Given the description of an element on the screen output the (x, y) to click on. 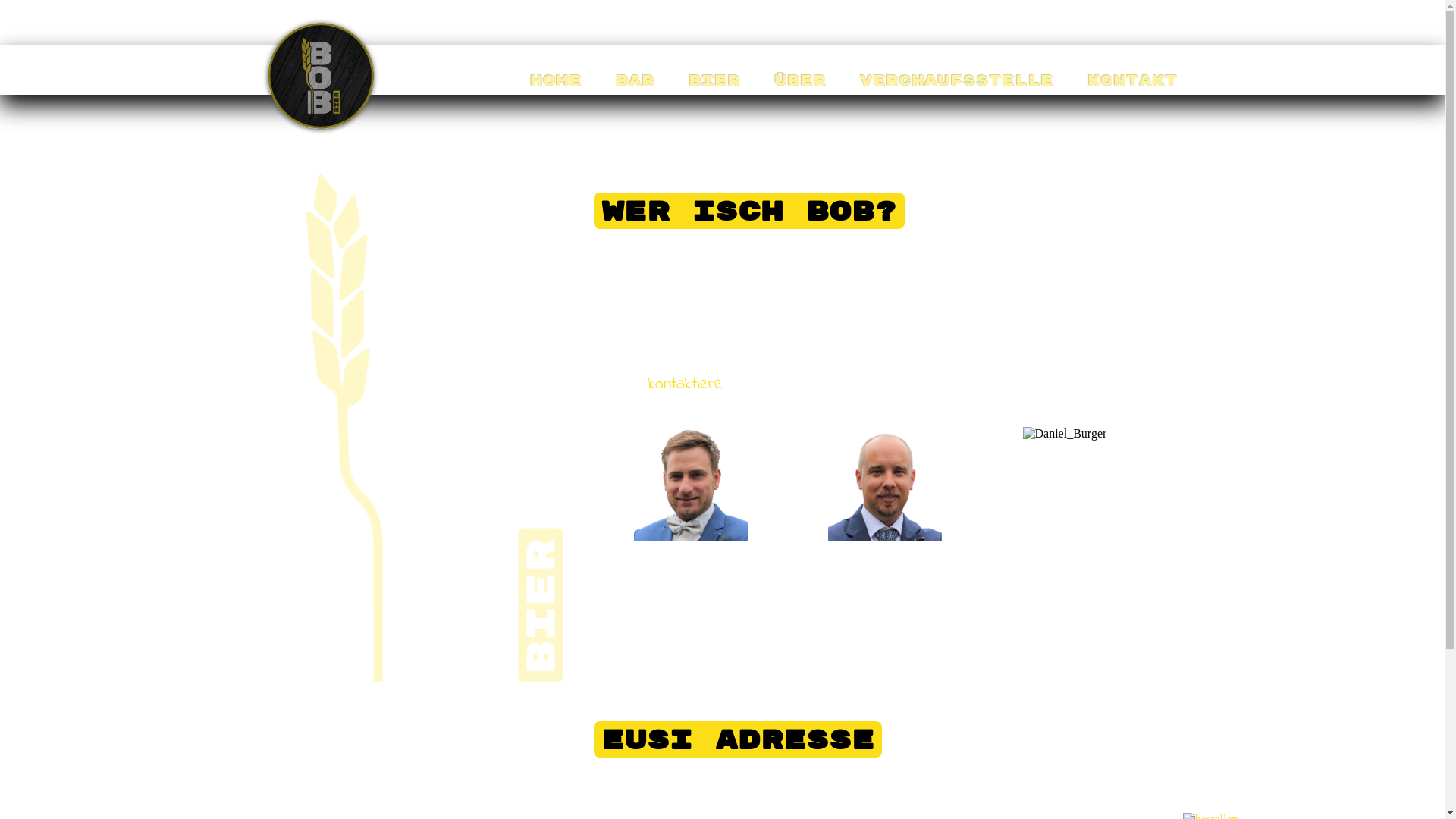
kontaktiere Element type: text (684, 384)
